Given the description of an element on the screen output the (x, y) to click on. 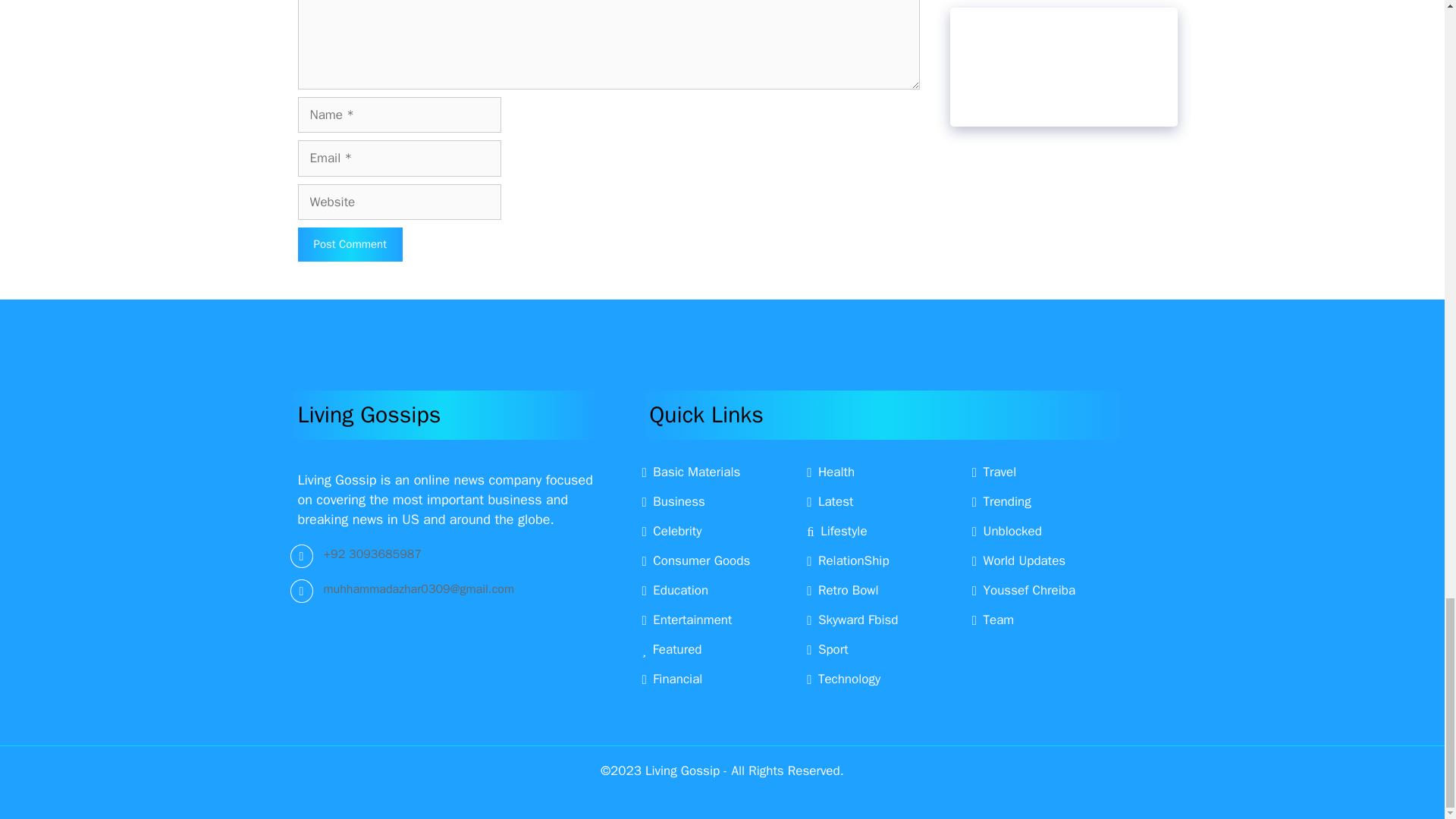
Basic Materials (690, 471)
Post Comment (349, 244)
Post Comment (349, 244)
